Given the description of an element on the screen output the (x, y) to click on. 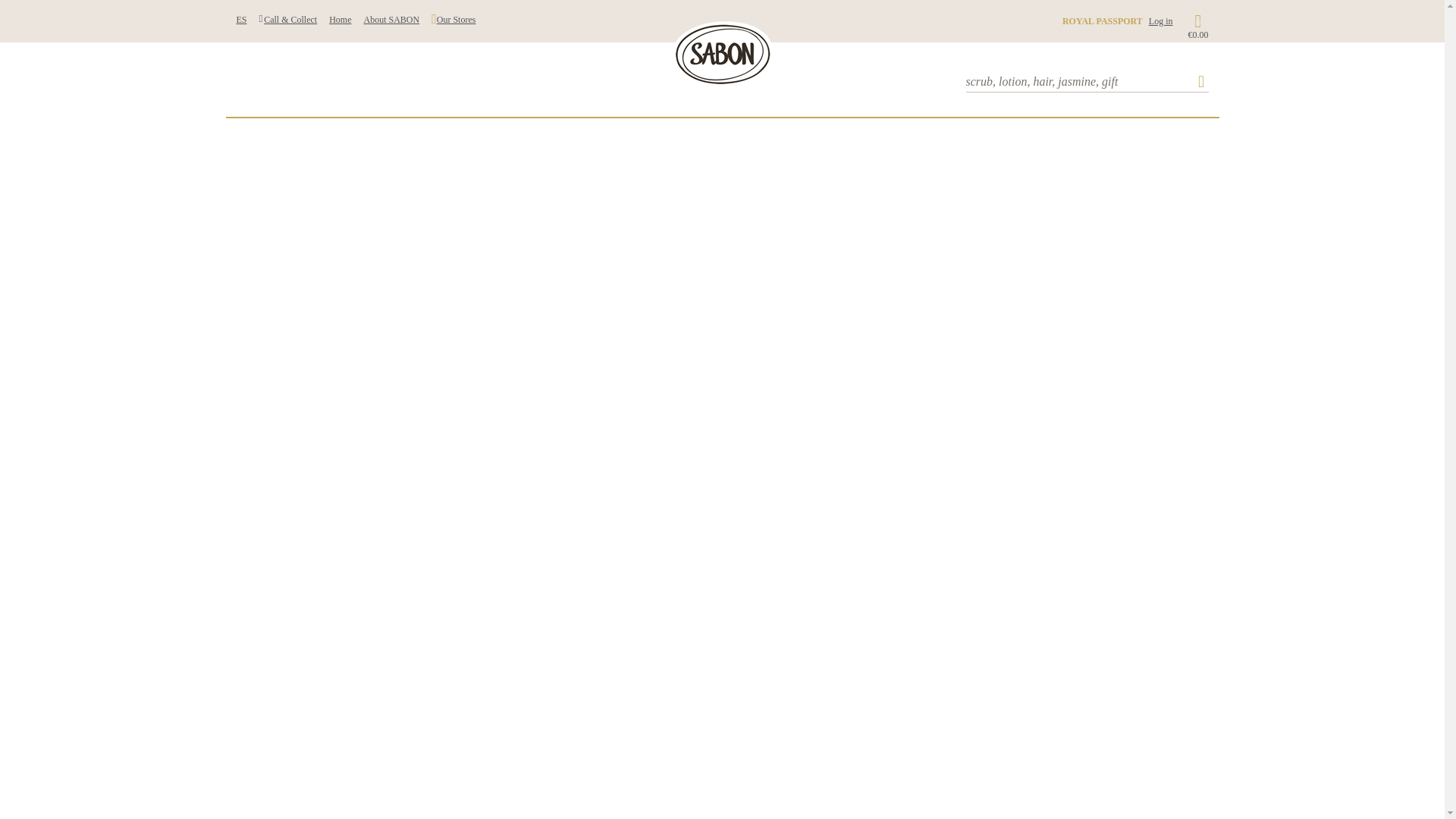
SABON Stores (453, 19)
About SABON (390, 19)
About SABON (390, 19)
Log in (1160, 20)
Access your account (1160, 20)
Royal Passport (1102, 20)
Home (339, 19)
ROYAL PASSPORT (1102, 20)
Our Stores (453, 19)
Home (339, 19)
